Given the description of an element on the screen output the (x, y) to click on. 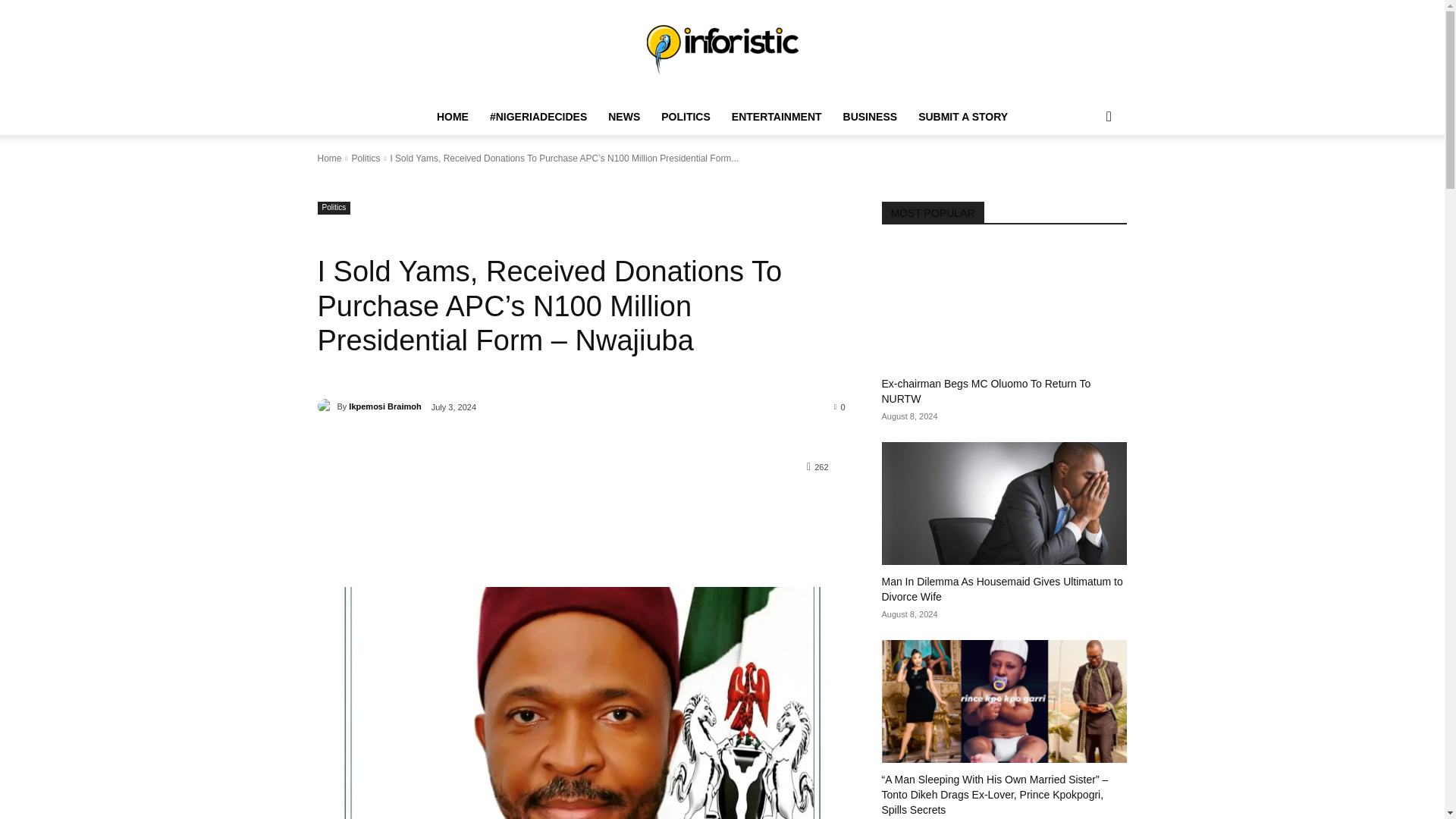
Home (328, 158)
ENTERTAINMENT (776, 116)
NEWS (623, 116)
Politics (333, 207)
HOME (452, 116)
POLITICS (685, 116)
SUBMIT A STORY (962, 116)
Politics (365, 158)
0 (839, 406)
Ikpemosi Braimoh (384, 405)
